Given the description of an element on the screen output the (x, y) to click on. 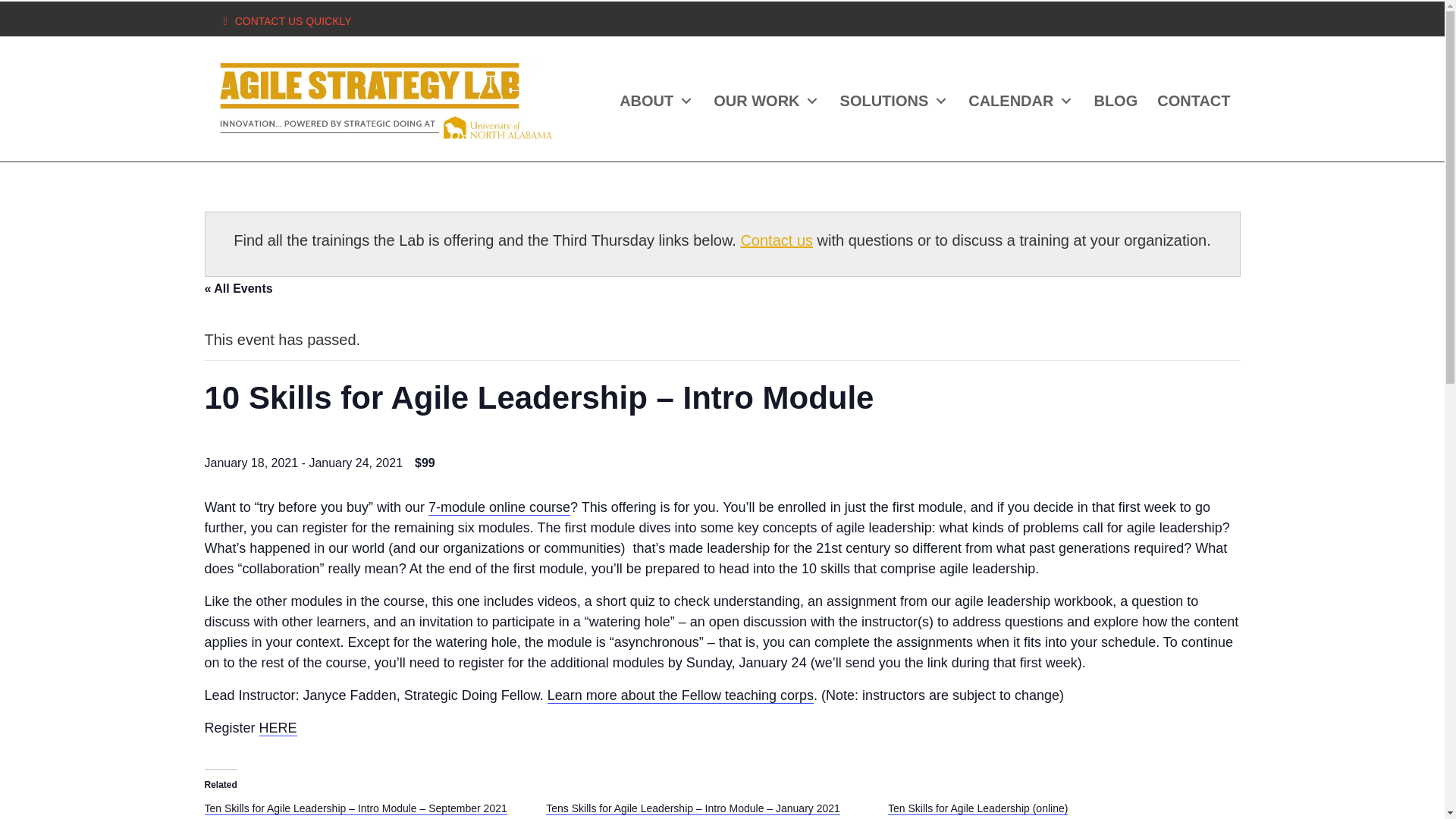
Contact us (775, 239)
HERE (278, 728)
Learn more about the Fellow teaching corps (680, 695)
7-module online course (499, 507)
BLOG (1115, 100)
CALENDAR (1020, 100)
CONTACT (1193, 100)
CONTACT US QUICKLY (293, 20)
ABOUT (656, 100)
ASL-logo (385, 100)
SOLUTIONS (894, 100)
OUR WORK (766, 100)
